Given the description of an element on the screen output the (x, y) to click on. 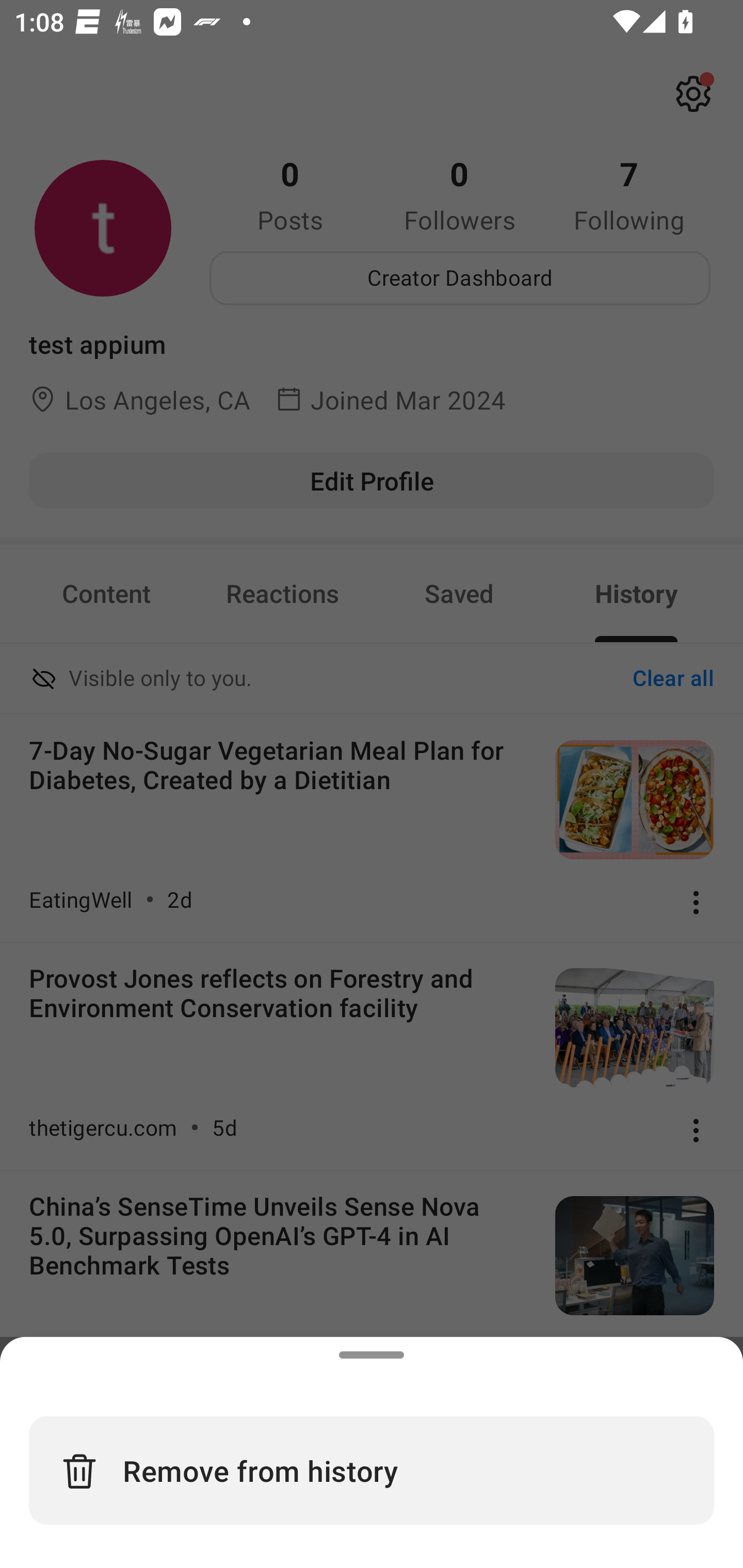
Remove from history (371, 1469)
